Given the description of an element on the screen output the (x, y) to click on. 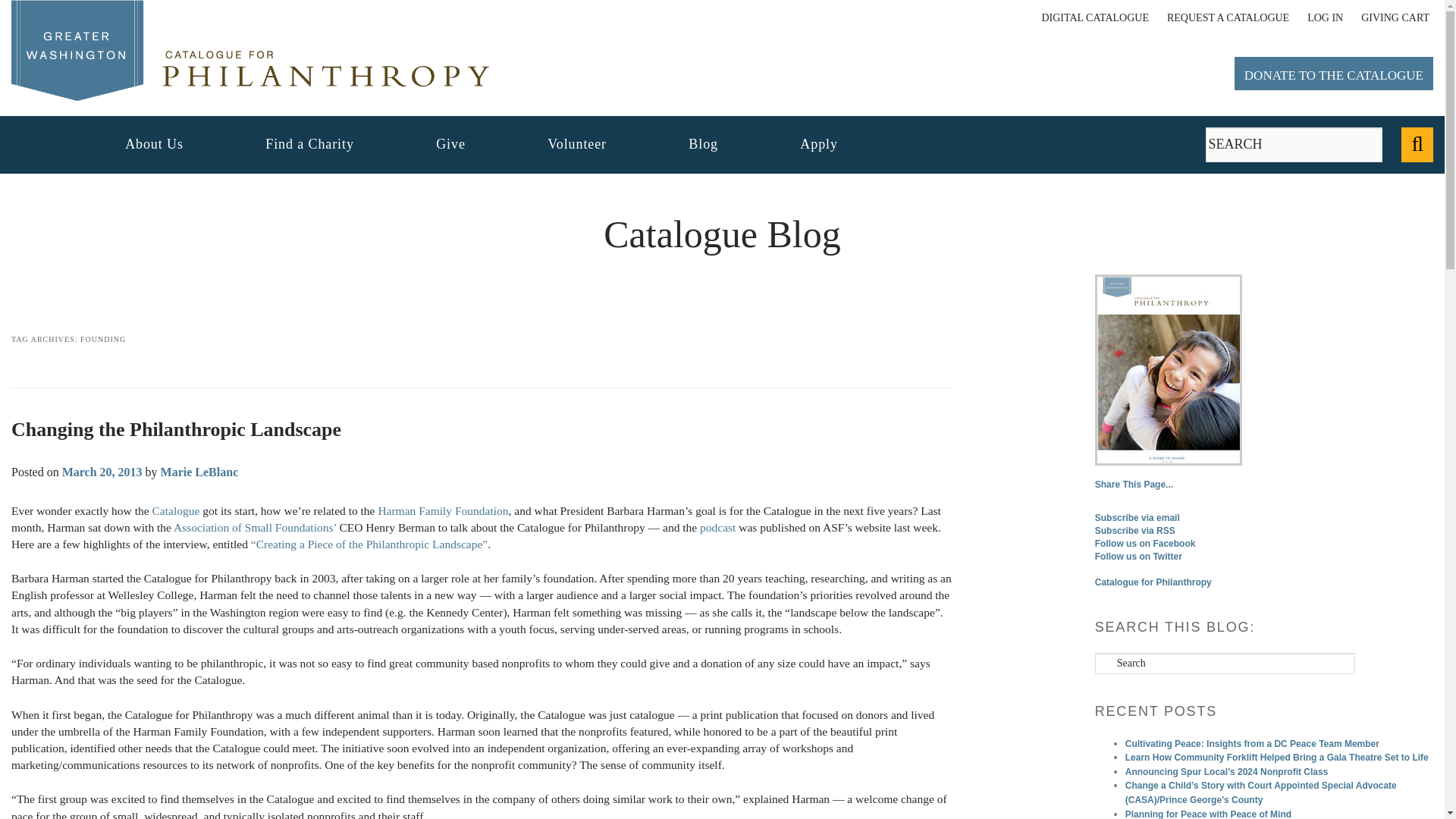
DIGITAL CATALOGUE (1094, 17)
Catalogue for Philanthropy: Greater Washington home (250, 50)
Log In (1324, 17)
View the Digital Catalogue (1094, 17)
About Us (153, 144)
LOG IN (1324, 17)
Give (450, 144)
Find a Charity (309, 144)
Who We Are (153, 144)
Donate to The Catalogue for Philanthropy (1333, 73)
